Given the description of an element on the screen output the (x, y) to click on. 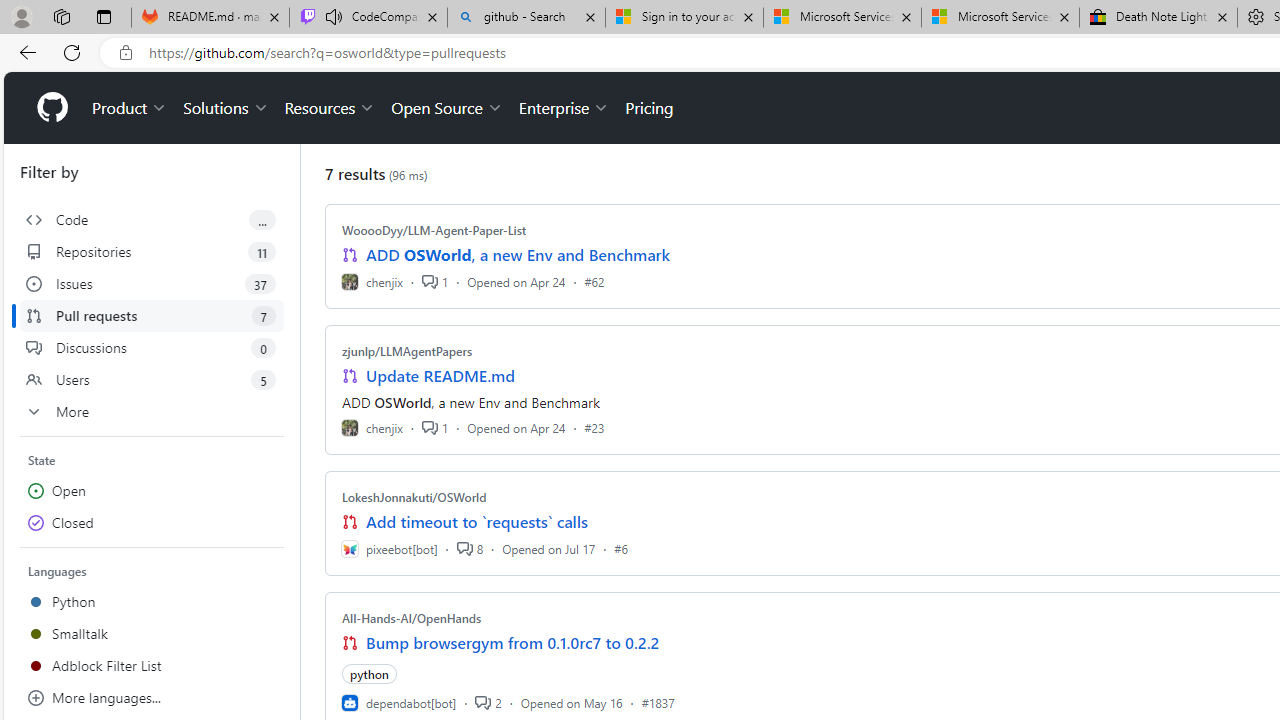
All-Hands-AI/OpenHands (411, 618)
Solutions (225, 107)
#62 (594, 281)
ADD OSWorld, a new Env and Benchmark (517, 255)
chenjix (372, 427)
dependabot[bot] (398, 702)
